Given the description of an element on the screen output the (x, y) to click on. 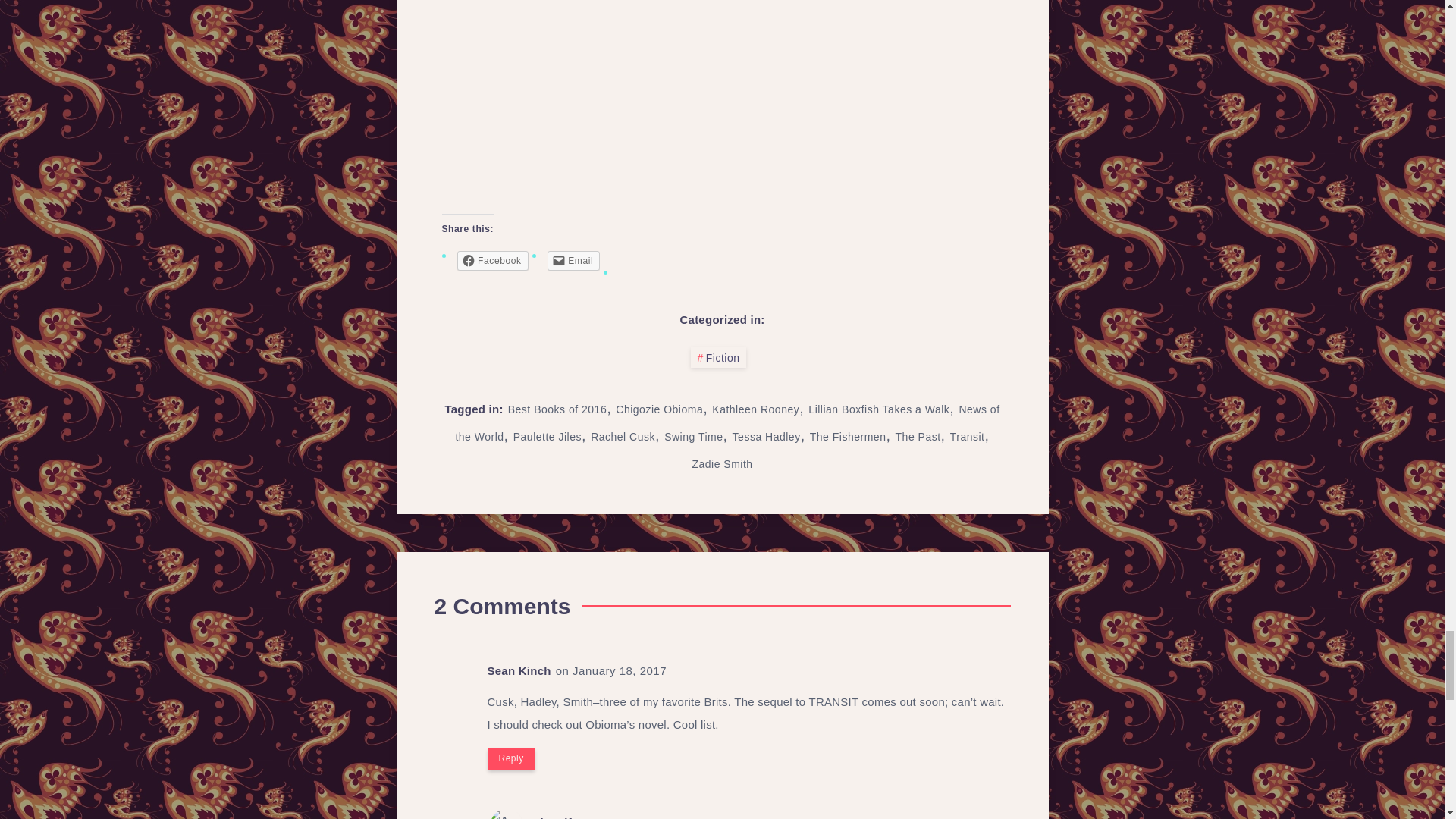
Click to email a link to a friend (573, 260)
Click to share on Facebook (492, 260)
